Given the description of an element on the screen output the (x, y) to click on. 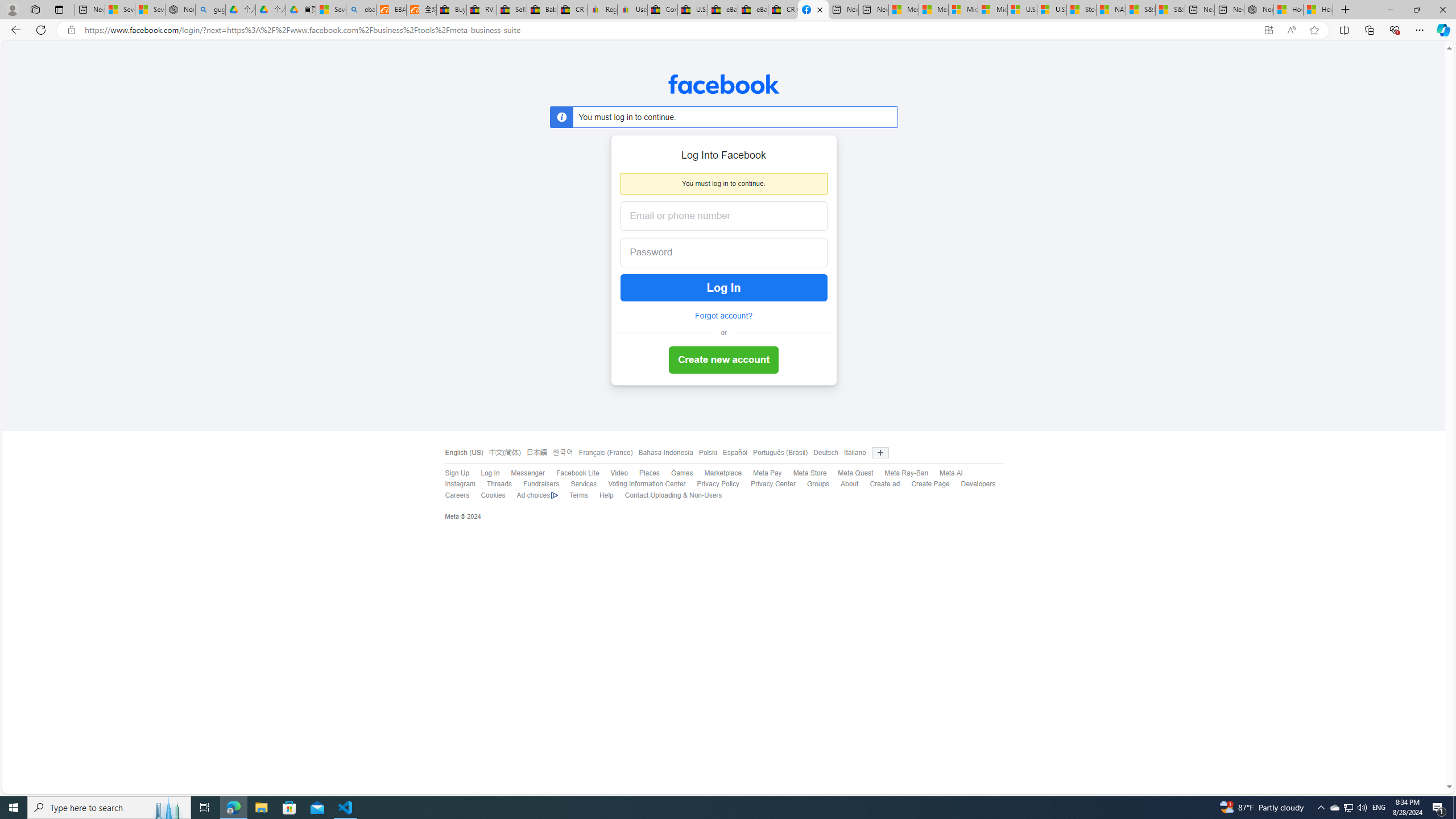
English (US) (463, 452)
Facebook Lite (577, 473)
Fundraisers (535, 484)
Instagram (454, 484)
S&P 500, Nasdaq end lower, weighed by Nvidia dip | Watch (1169, 9)
Cookies (486, 495)
Meta Ray-Ban (905, 473)
Video (612, 473)
